Given the description of an element on the screen output the (x, y) to click on. 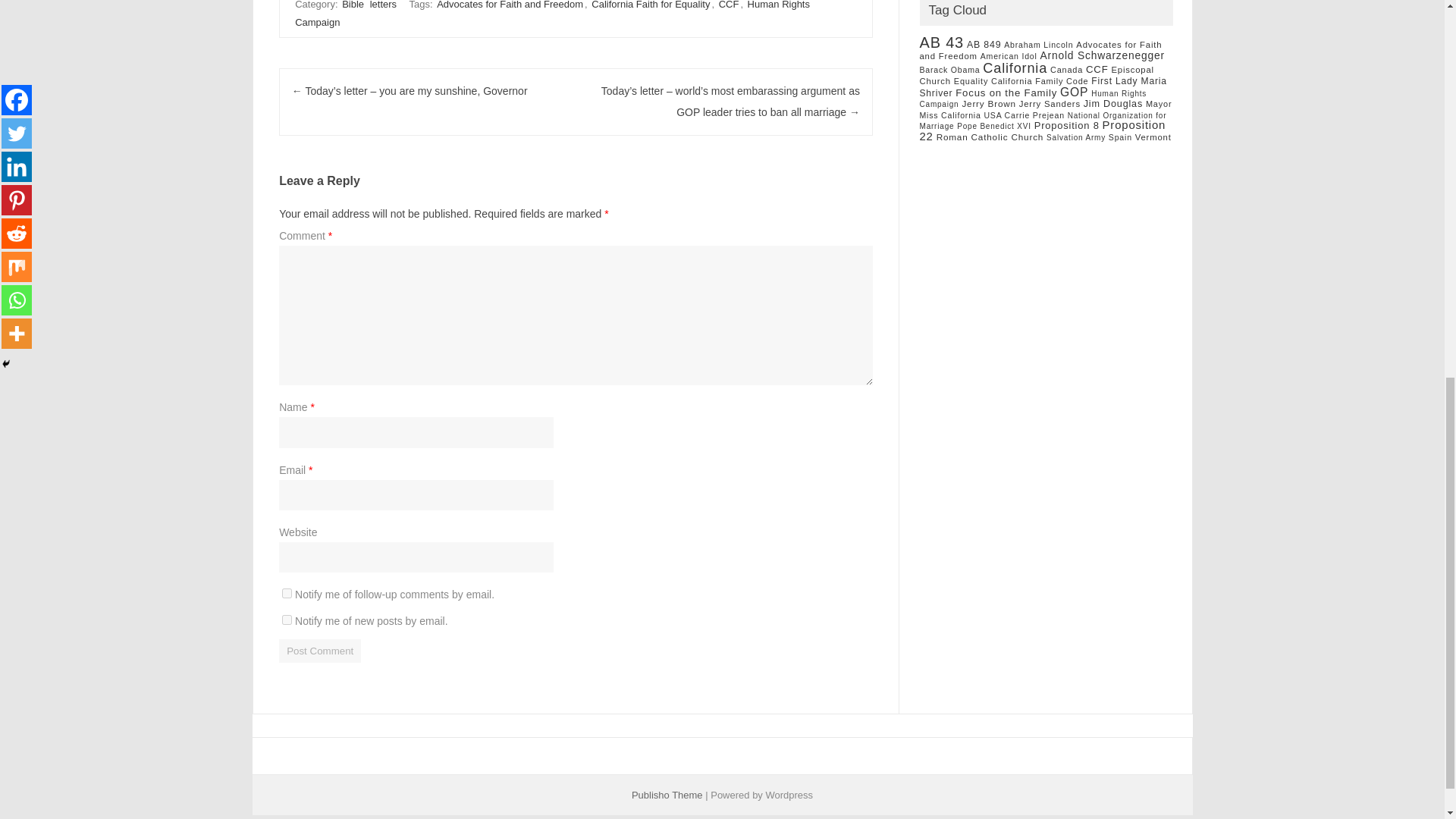
subscribe (287, 593)
CCF (729, 5)
subscribe (287, 619)
Bible (352, 5)
letters (382, 5)
California Faith for Equality (650, 5)
Post Comment (320, 650)
Advocates for Faith and Freedom (510, 5)
